Given the description of an element on the screen output the (x, y) to click on. 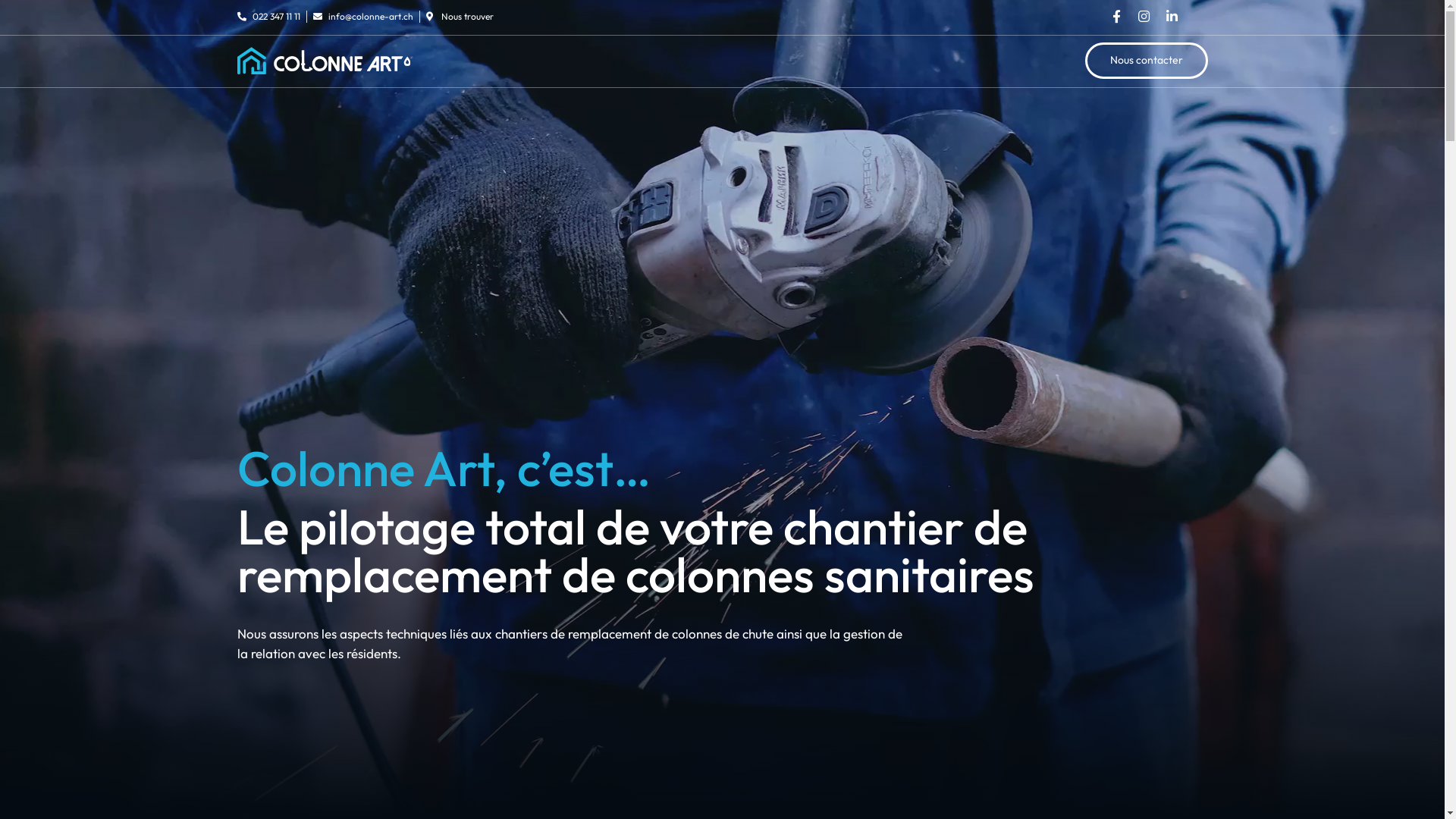
Nous trouver Element type: text (459, 16)
info@colonne-art.ch Element type: text (362, 16)
Nous contacter Element type: text (1145, 60)
022 347 11 11 Element type: text (267, 16)
